Given the description of an element on the screen output the (x, y) to click on. 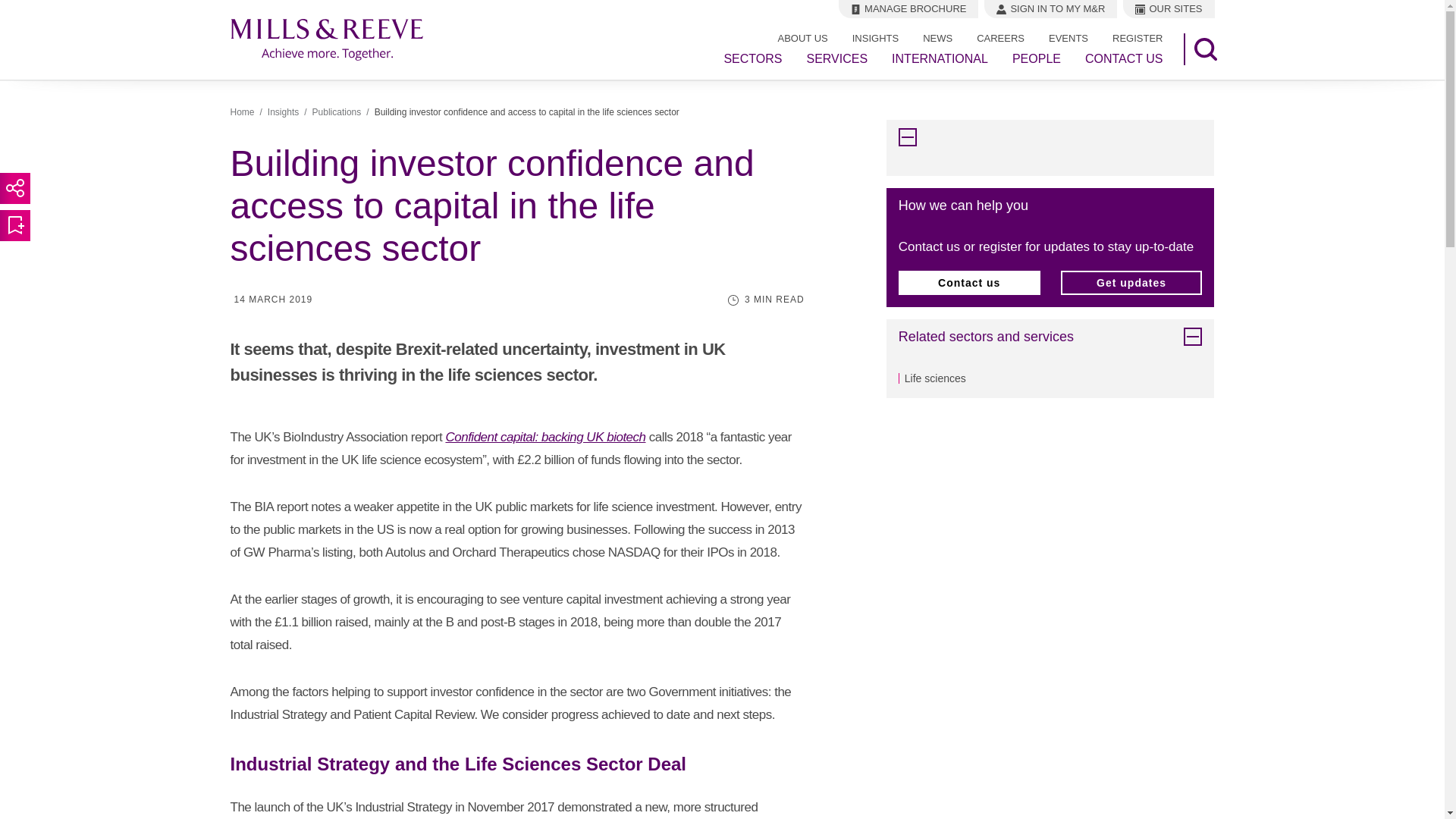
PEOPLE (1036, 58)
REGISTER (1137, 37)
INTERNATIONAL (939, 58)
Our sites (1168, 9)
SECTORS (752, 58)
CONTACT US (1123, 58)
Publications (337, 112)
MANAGE BROCHURE (908, 9)
NEWS (937, 37)
Insights (282, 112)
